Given the description of an element on the screen output the (x, y) to click on. 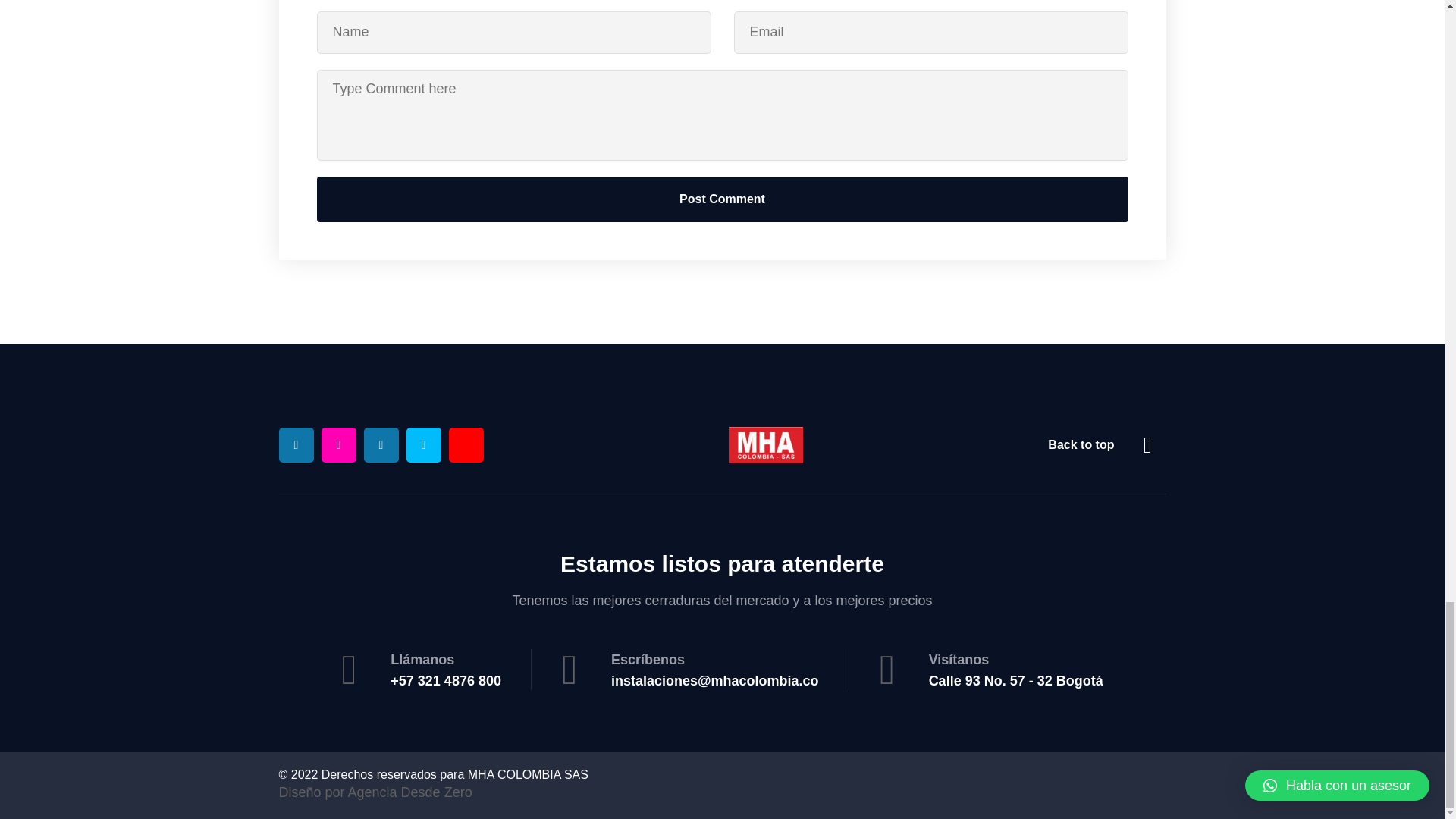
Back to top (1107, 444)
